Given the description of an element on the screen output the (x, y) to click on. 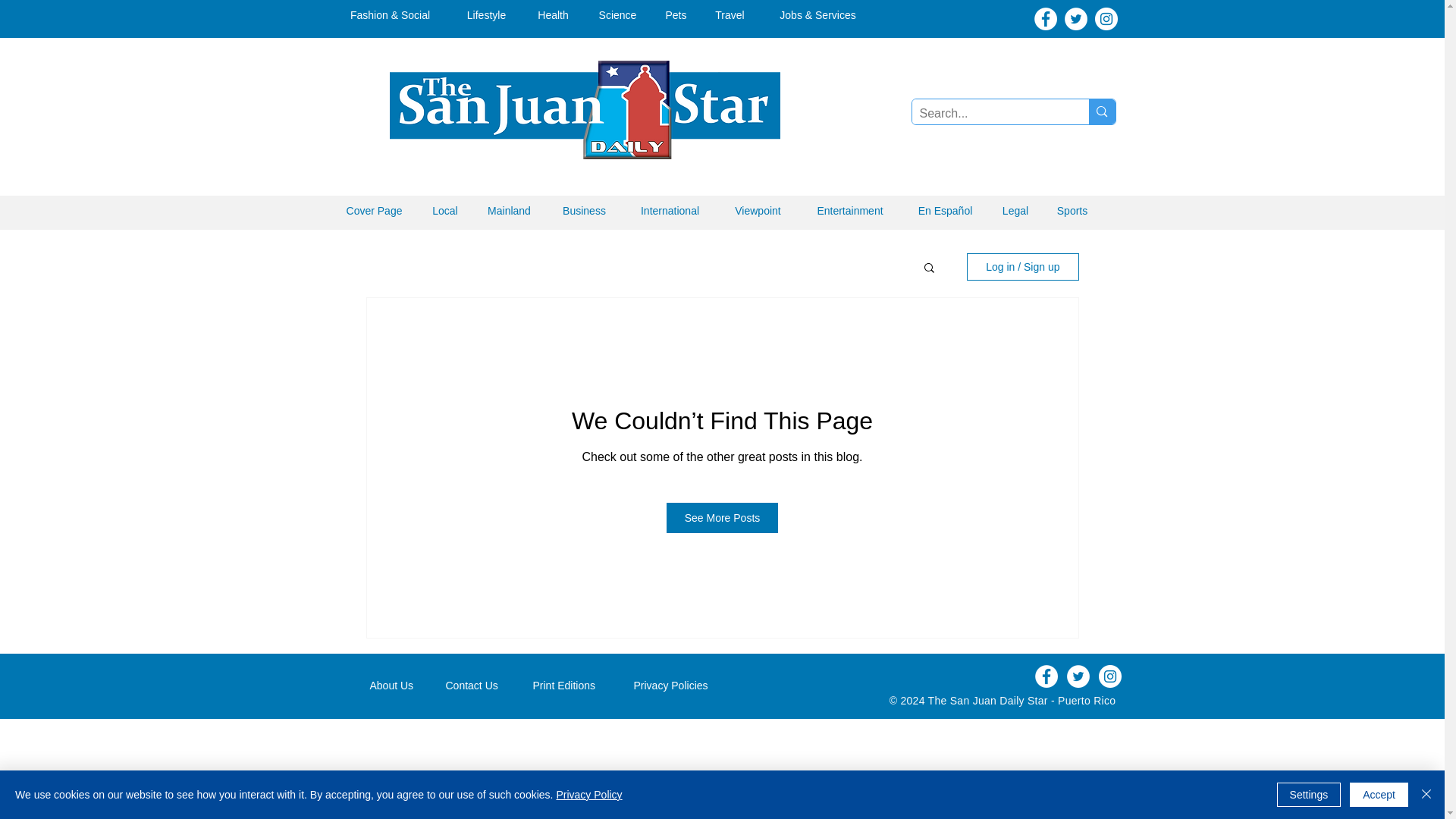
Local (445, 210)
Health (552, 15)
Pets (676, 15)
Print Editions (572, 685)
Settings (1308, 794)
Lifestyle (485, 15)
Accept (1378, 794)
Science (617, 15)
Cover Page (374, 210)
Mainland (508, 210)
See More Posts (722, 517)
Privacy Policy (588, 794)
International (669, 210)
Business (583, 210)
Sports (1072, 210)
